Given the description of an element on the screen output the (x, y) to click on. 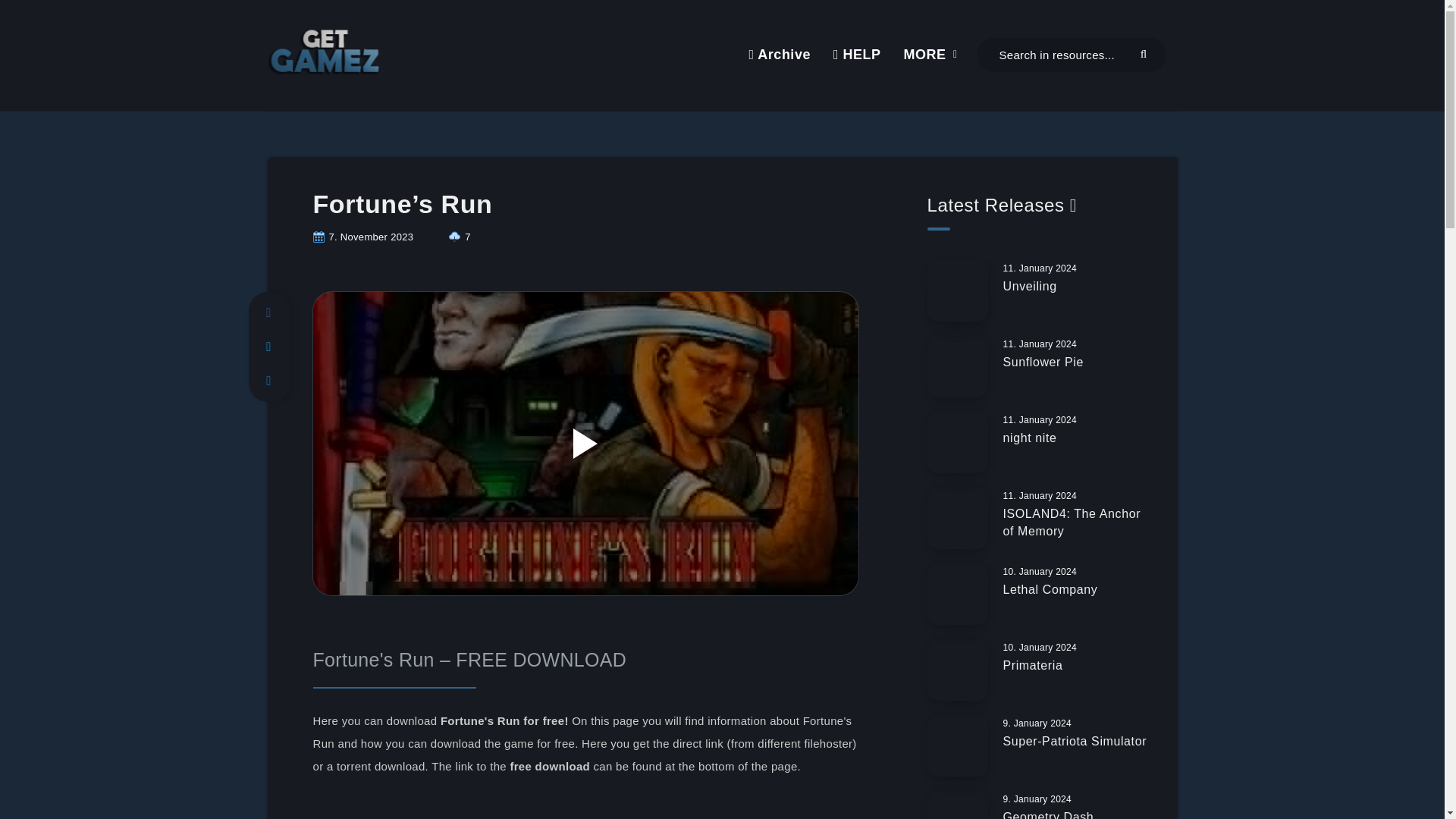
Archive (778, 54)
MORE (925, 54)
Unveiling (1030, 288)
night nite (1030, 439)
Archive (778, 54)
Super-Patriota Simulator (1075, 742)
Geometry Dash (1048, 814)
ISOLAND4: The Anchor of Memory (1071, 523)
Lethal Company (1050, 591)
Sunflower Pie (1043, 363)
